Given the description of an element on the screen output the (x, y) to click on. 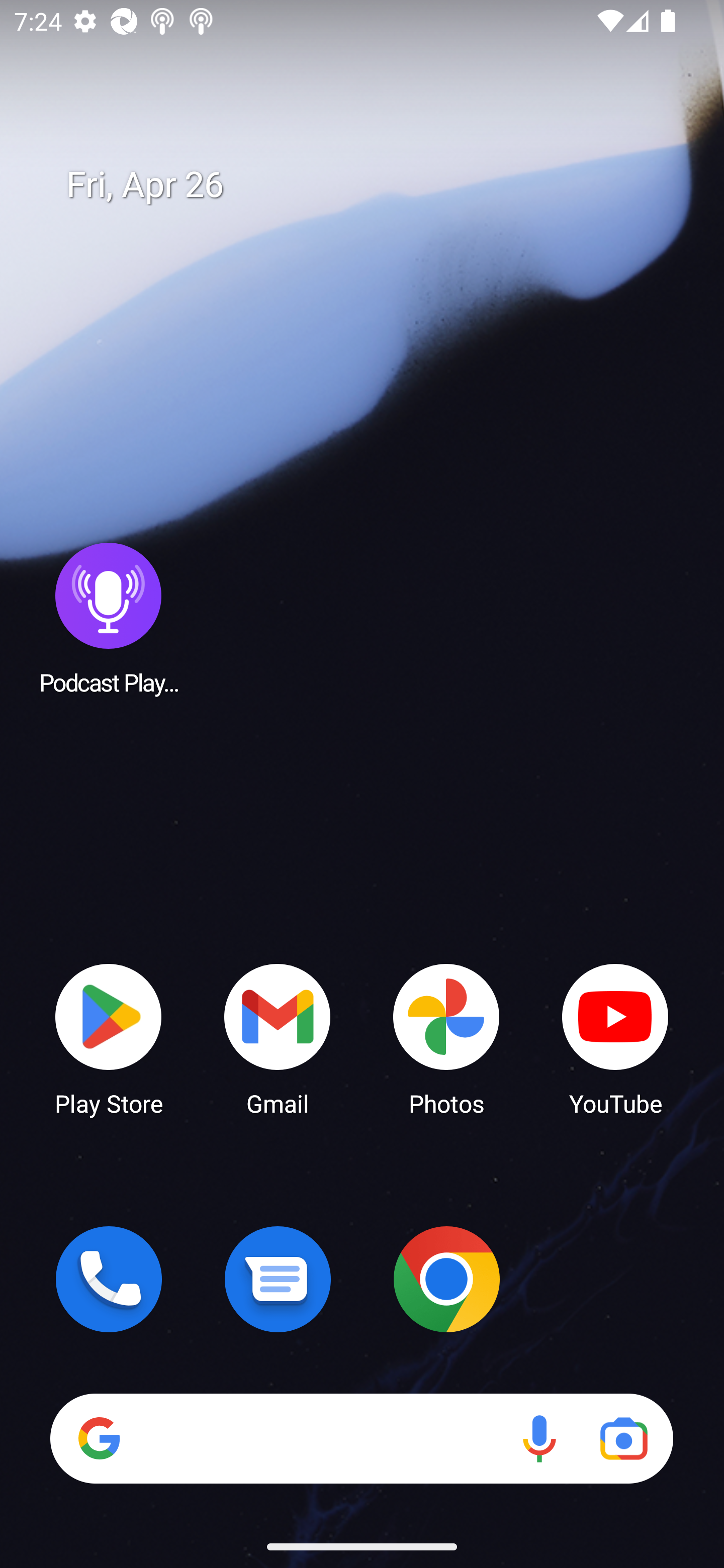
Fri, Apr 26 (375, 184)
Podcast Player (108, 617)
Play Store (108, 1038)
Gmail (277, 1038)
Photos (445, 1038)
YouTube (615, 1038)
Phone (108, 1279)
Messages (277, 1279)
Chrome (446, 1279)
Search Voice search Google Lens (361, 1438)
Voice search (539, 1438)
Google Lens (623, 1438)
